Given the description of an element on the screen output the (x, y) to click on. 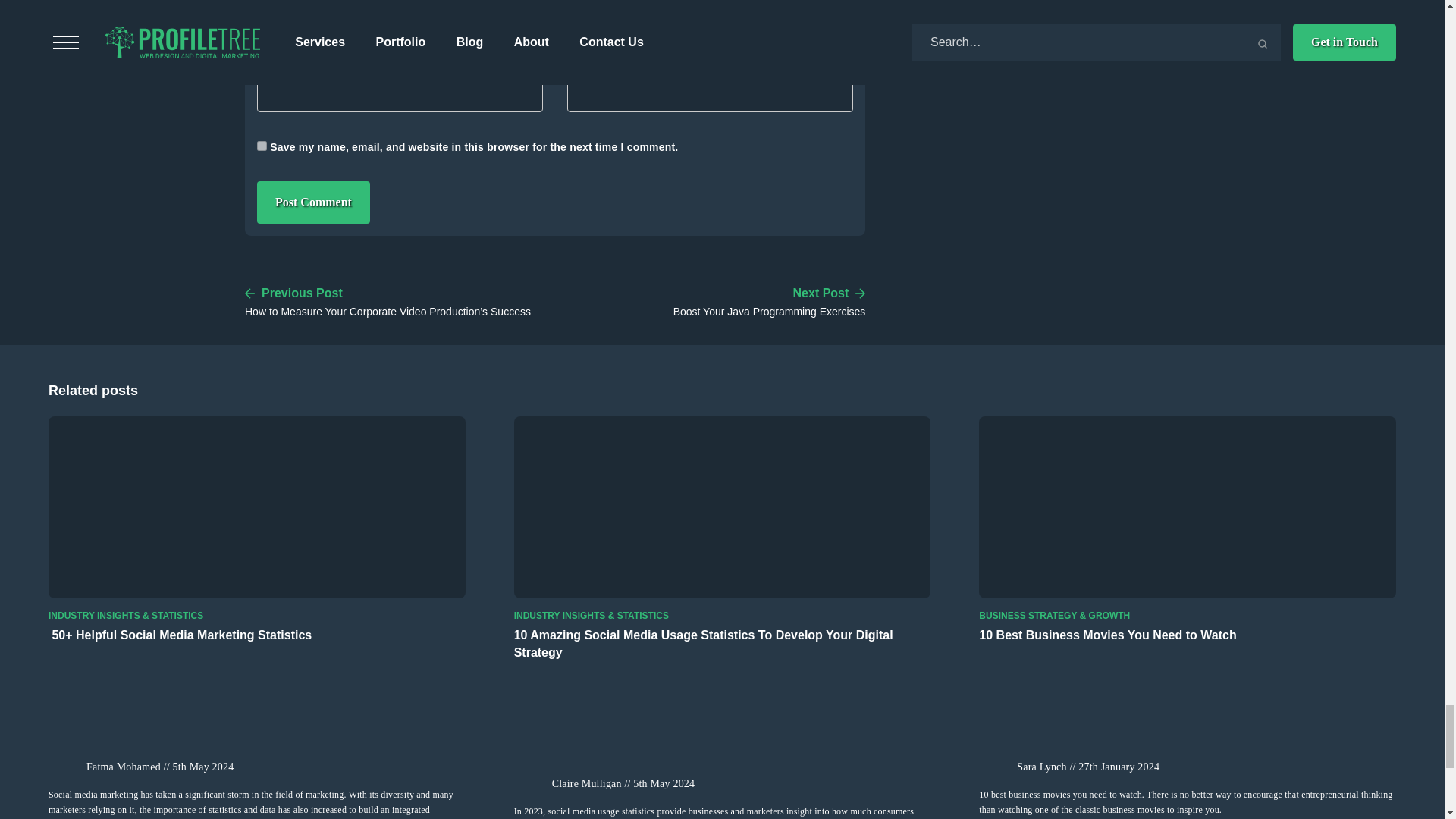
Post Comment (769, 300)
yes (313, 201)
Post Comment (261, 145)
